Given the description of an element on the screen output the (x, y) to click on. 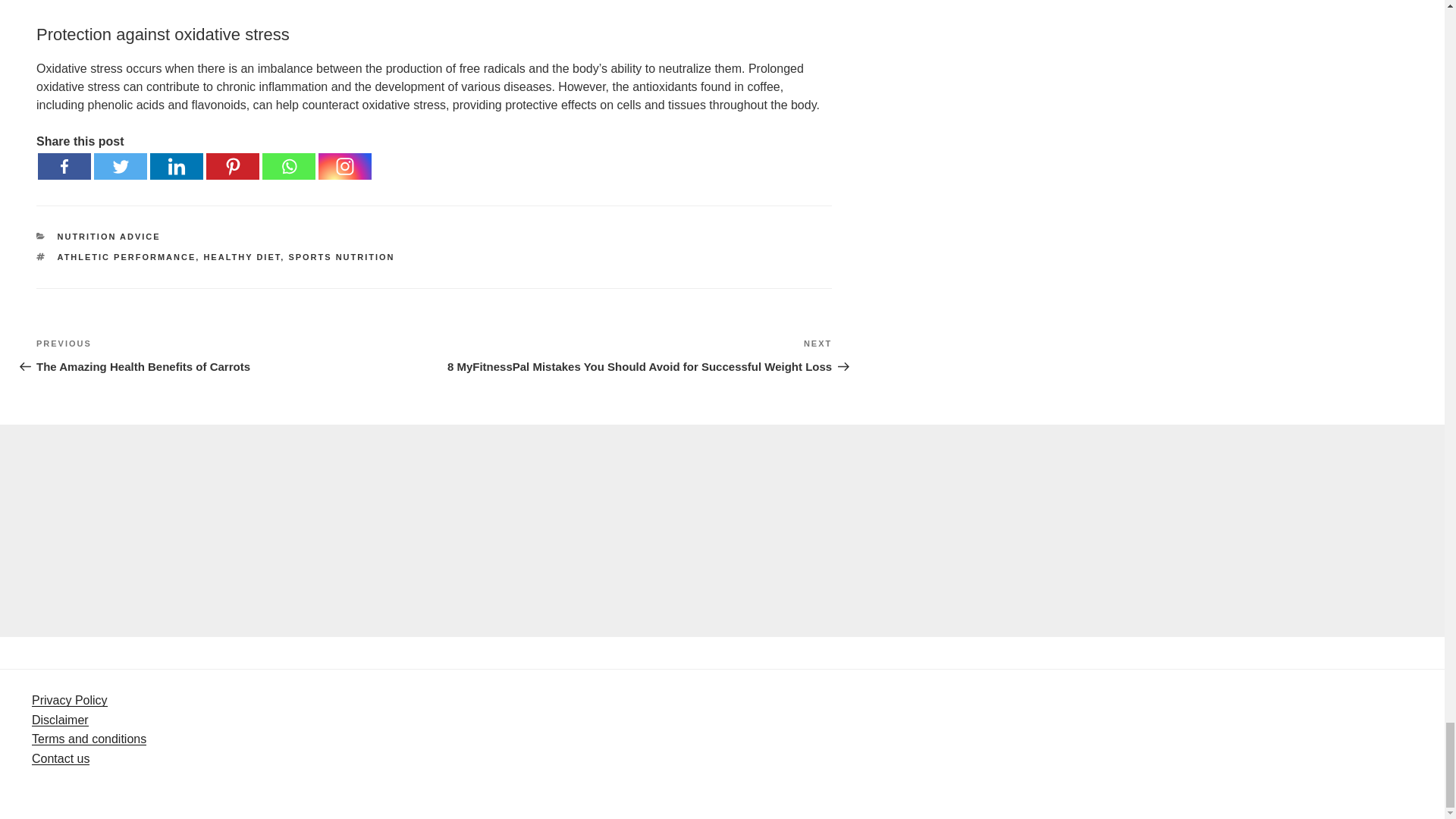
Instagram (344, 166)
Whatsapp (288, 166)
Linkedin (176, 166)
Facebook (63, 166)
Pinterest (232, 166)
Twitter (120, 166)
